Given the description of an element on the screen output the (x, y) to click on. 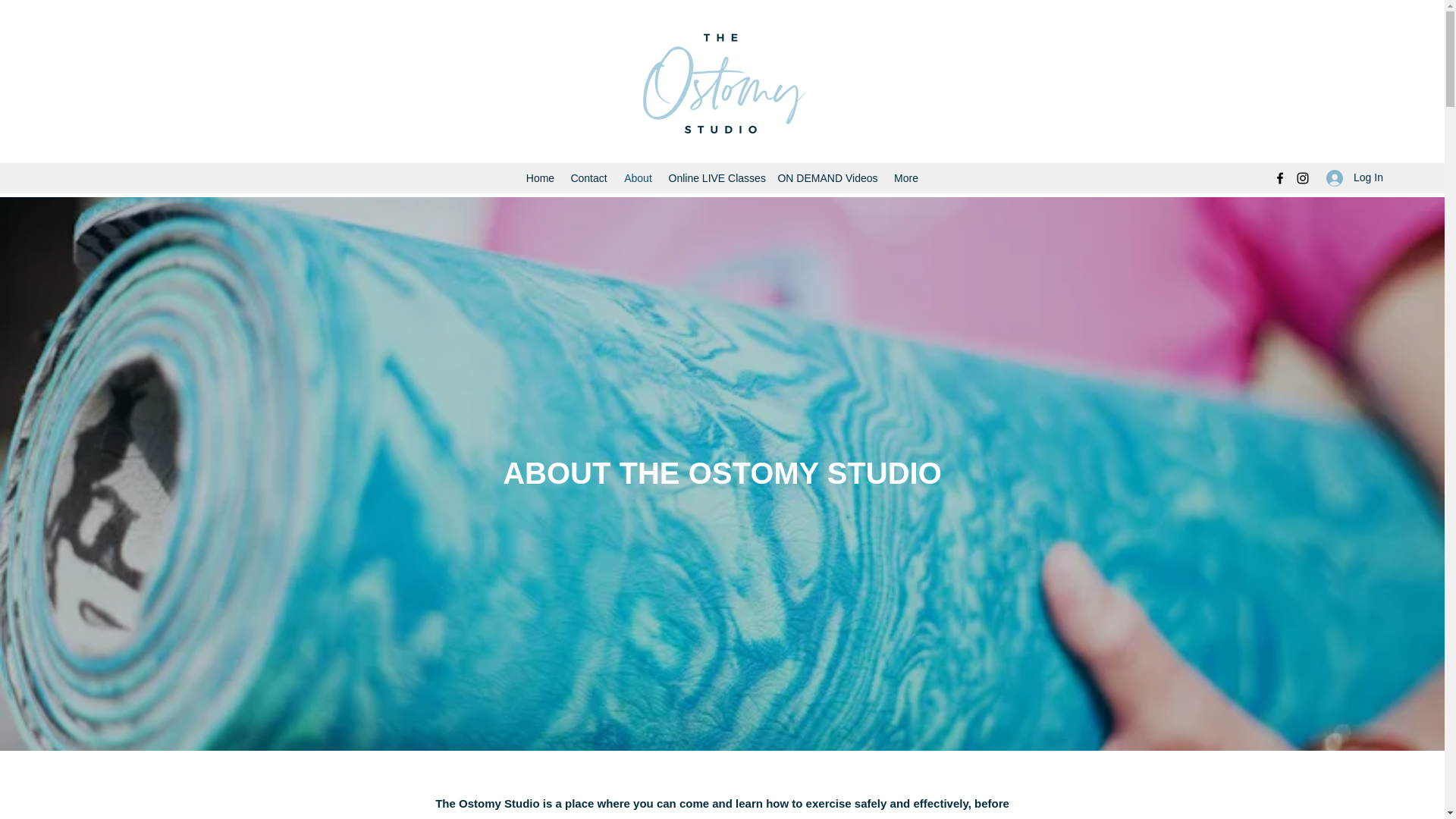
Contact (588, 178)
ON DEMAND Videos (826, 178)
Online LIVE Classes (715, 178)
About (638, 178)
Log In (1350, 177)
Home (540, 178)
